Given the description of an element on the screen output the (x, y) to click on. 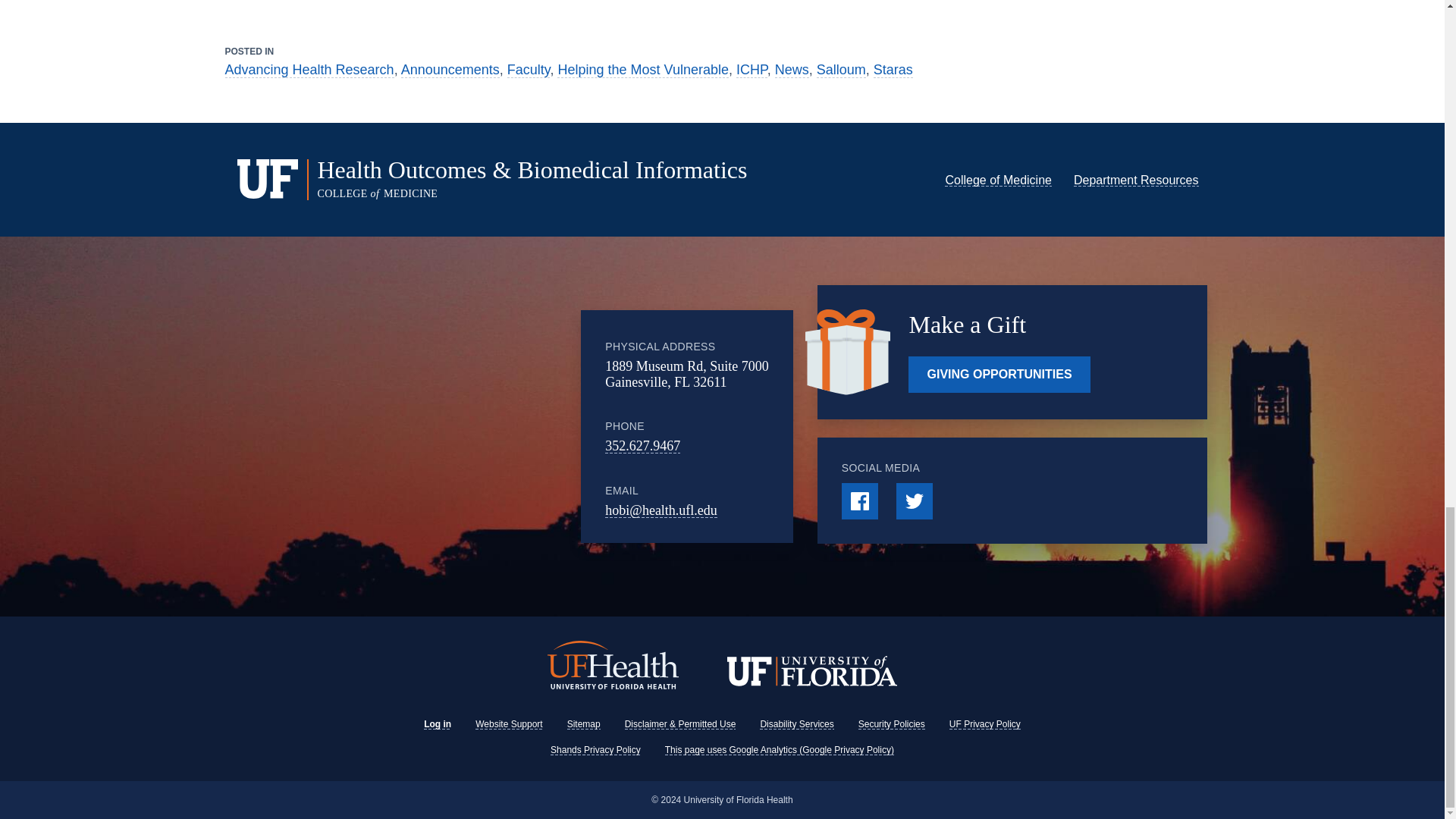
UF Privacy Policy (984, 724)
Website Support (509, 724)
352.627.9467 (642, 445)
Google Maps Embed (456, 425)
Department Resources (1136, 179)
College of Medicine (997, 179)
Sitemap (583, 724)
Security Policies (891, 724)
Disability Services (796, 724)
Log in (437, 724)
